Given the description of an element on the screen output the (x, y) to click on. 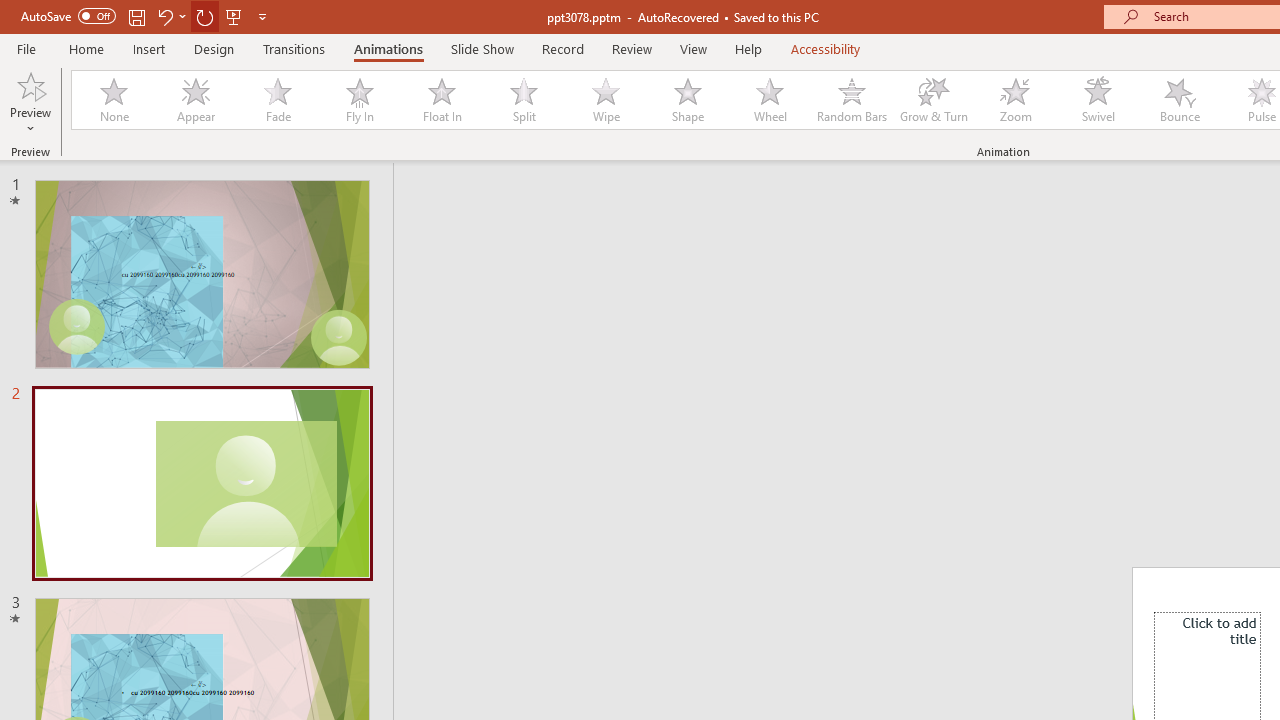
Swivel (1098, 100)
Grow & Turn (934, 100)
